Given the description of an element on the screen output the (x, y) to click on. 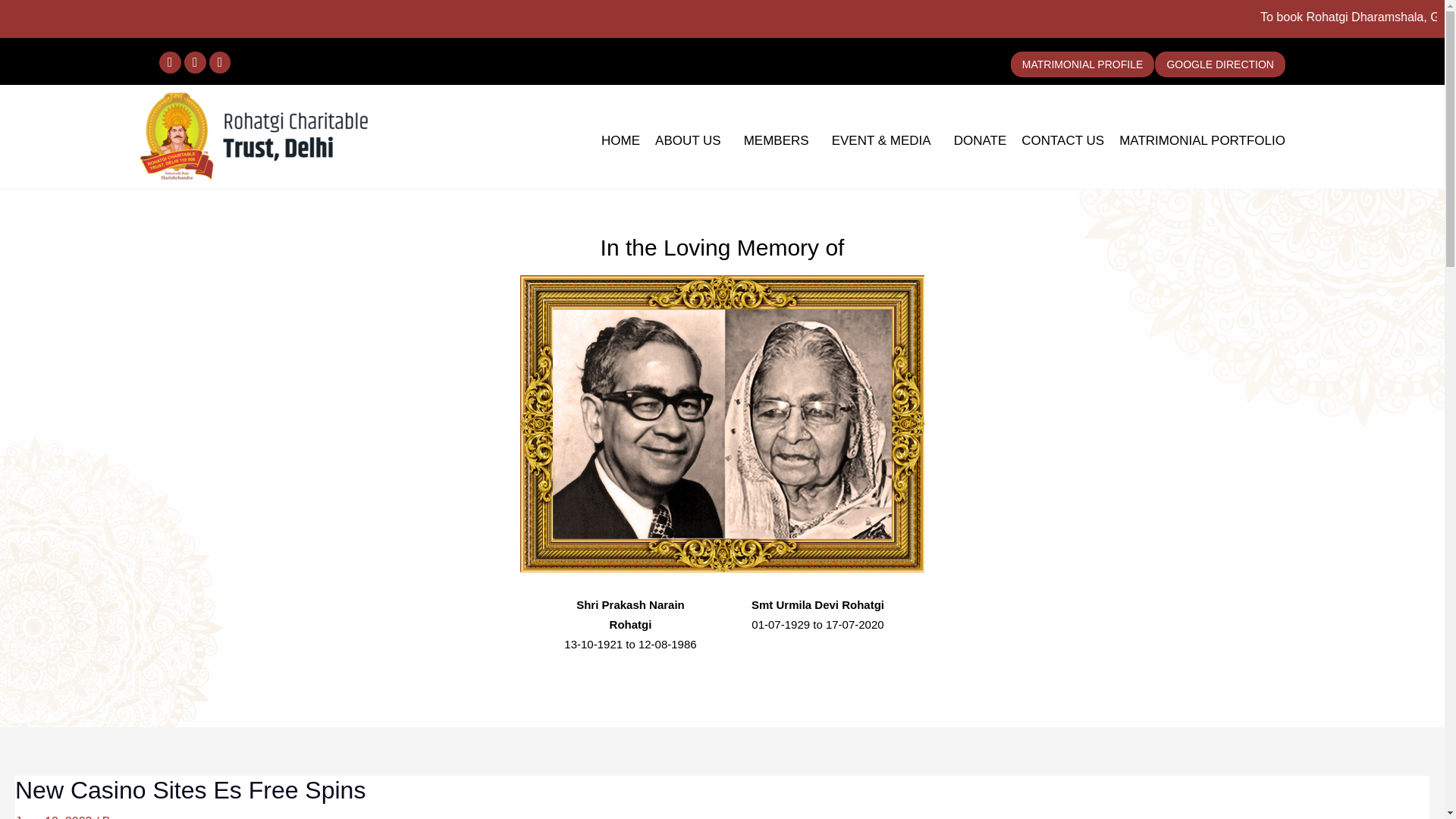
HOME (620, 140)
Youtube (220, 62)
GOOGLE DIRECTION (1219, 63)
MEMBERS (780, 140)
MATRIMONIAL PROFILE (1082, 63)
Facebook (169, 62)
Instagram (195, 62)
ABOUT US (692, 140)
